Given the description of an element on the screen output the (x, y) to click on. 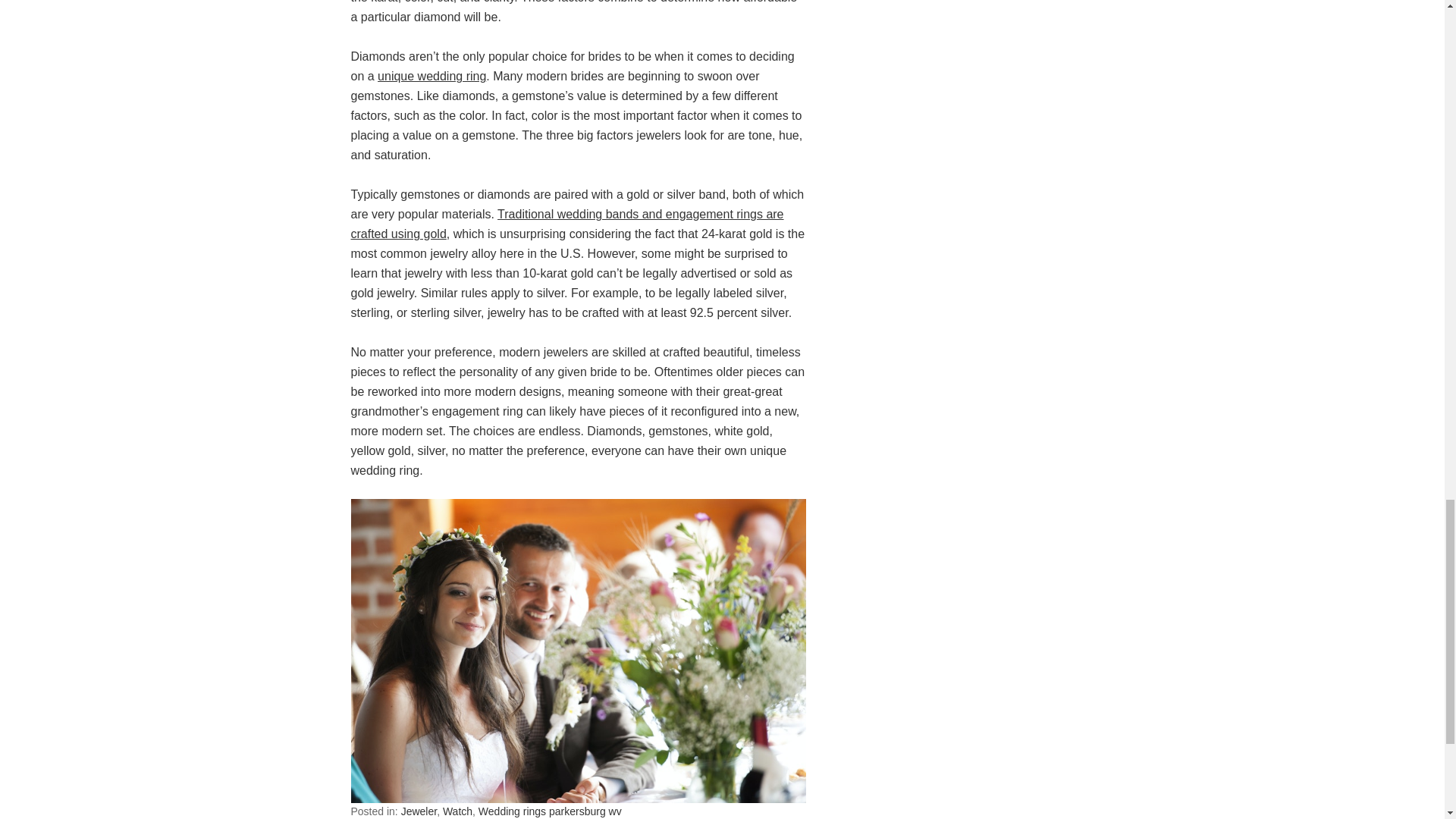
Read on the topic of Diamond engagement ring (431, 75)
Jeweler (418, 811)
Jewelers, Jewelry store parkersburg wv (566, 224)
unique wedding ring (431, 75)
Watch (456, 811)
Wedding rings parkersburg wv (550, 811)
